Given the description of an element on the screen output the (x, y) to click on. 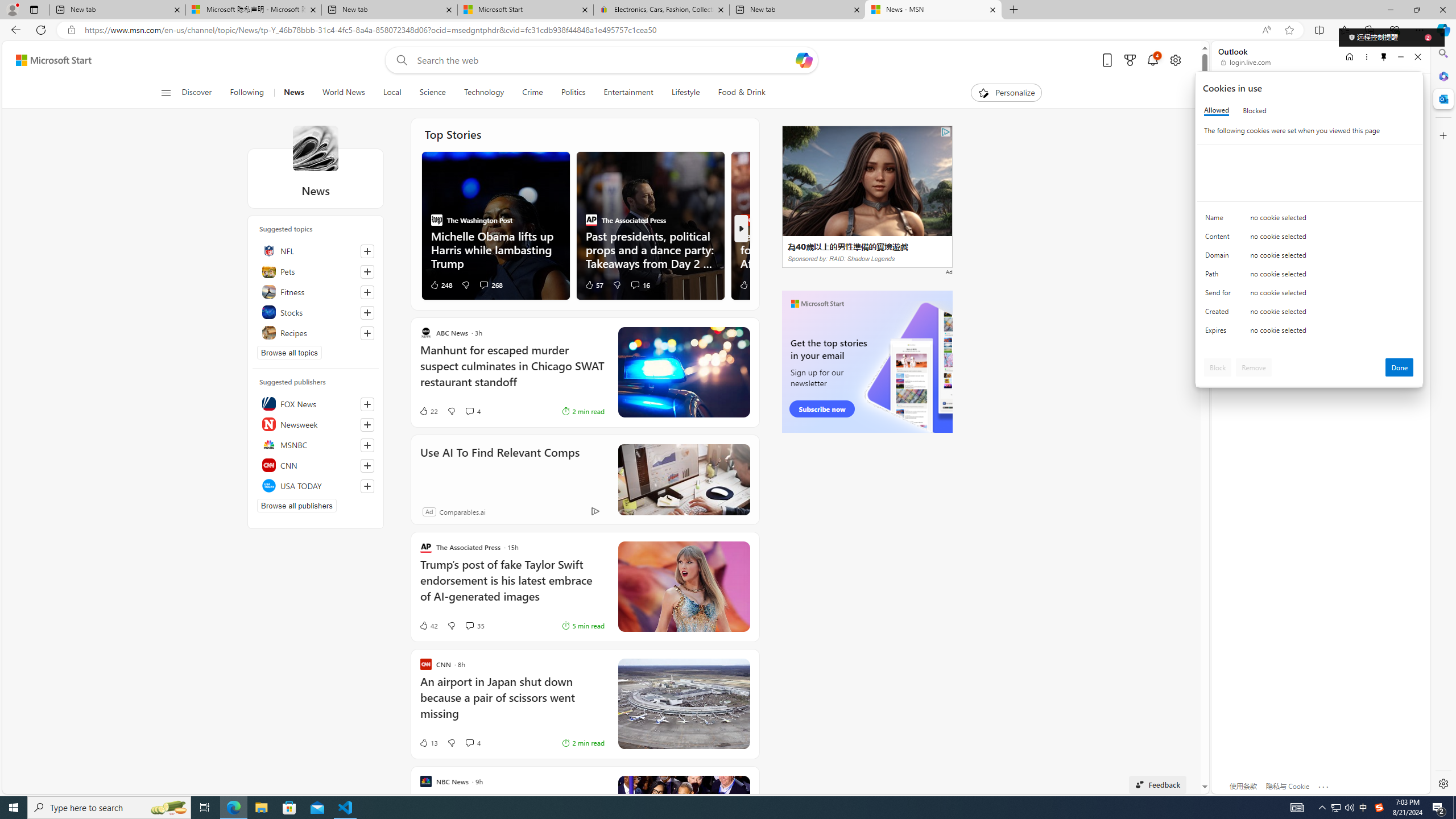
Technology (483, 92)
Local (392, 92)
View comments 35 Comment (469, 624)
Comparables.ai (462, 511)
Allowed (1216, 110)
View comments 16 Comment (640, 284)
Path (1219, 276)
57 Like (593, 284)
